Given the description of an element on the screen output the (x, y) to click on. 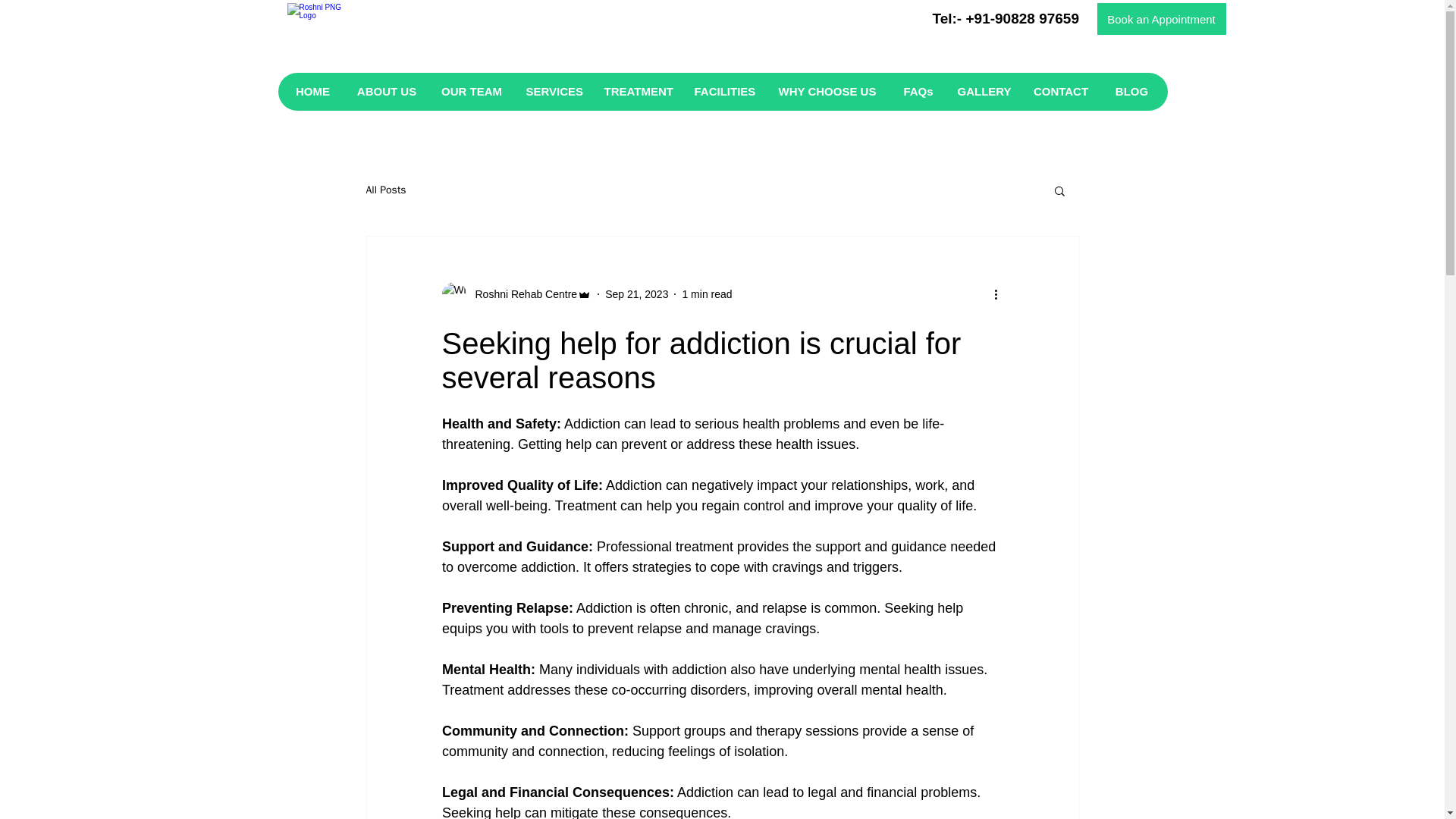
Roshni Rehab Centre (516, 293)
FACILITIES (722, 91)
ABOUT US (385, 91)
GALLERY (983, 91)
Roshni Rehab Centre (520, 294)
HOME (318, 91)
Book an Appointment (1160, 19)
1 min read (706, 294)
SERVICES (552, 91)
CONTACT (1060, 91)
WHY CHOOSE US (827, 91)
FAQs (916, 91)
All Posts (385, 190)
TREATMENT (637, 91)
Sep 21, 2023 (636, 294)
